Given the description of an element on the screen output the (x, y) to click on. 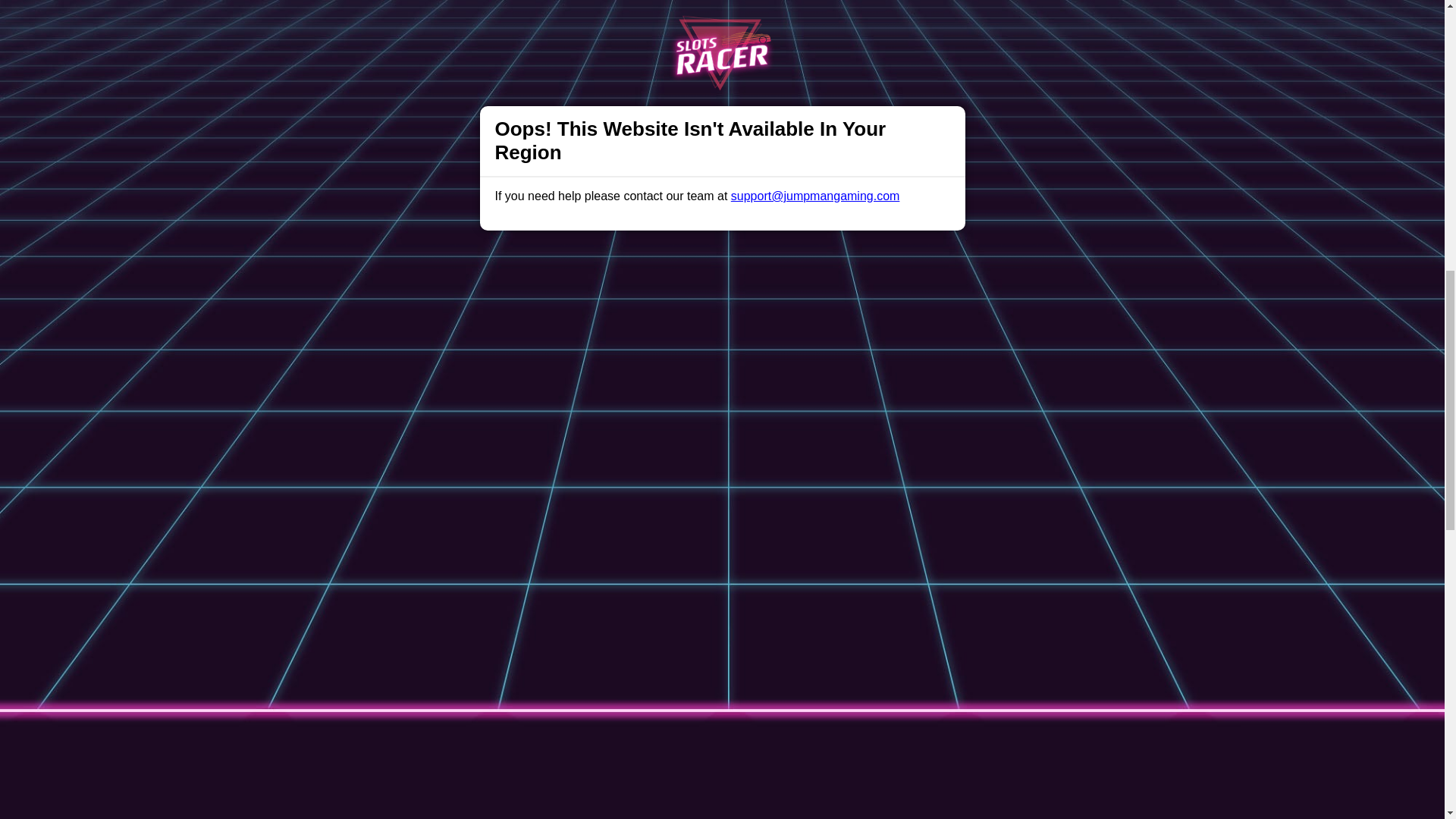
online slots 2021 (673, 619)
Pirates Frenzy slot (442, 727)
Pirate Princess slot (444, 740)
mobile deposits (564, 766)
slot games (837, 72)
Pirate Gold Deluxe slot (454, 713)
